Given the description of an element on the screen output the (x, y) to click on. 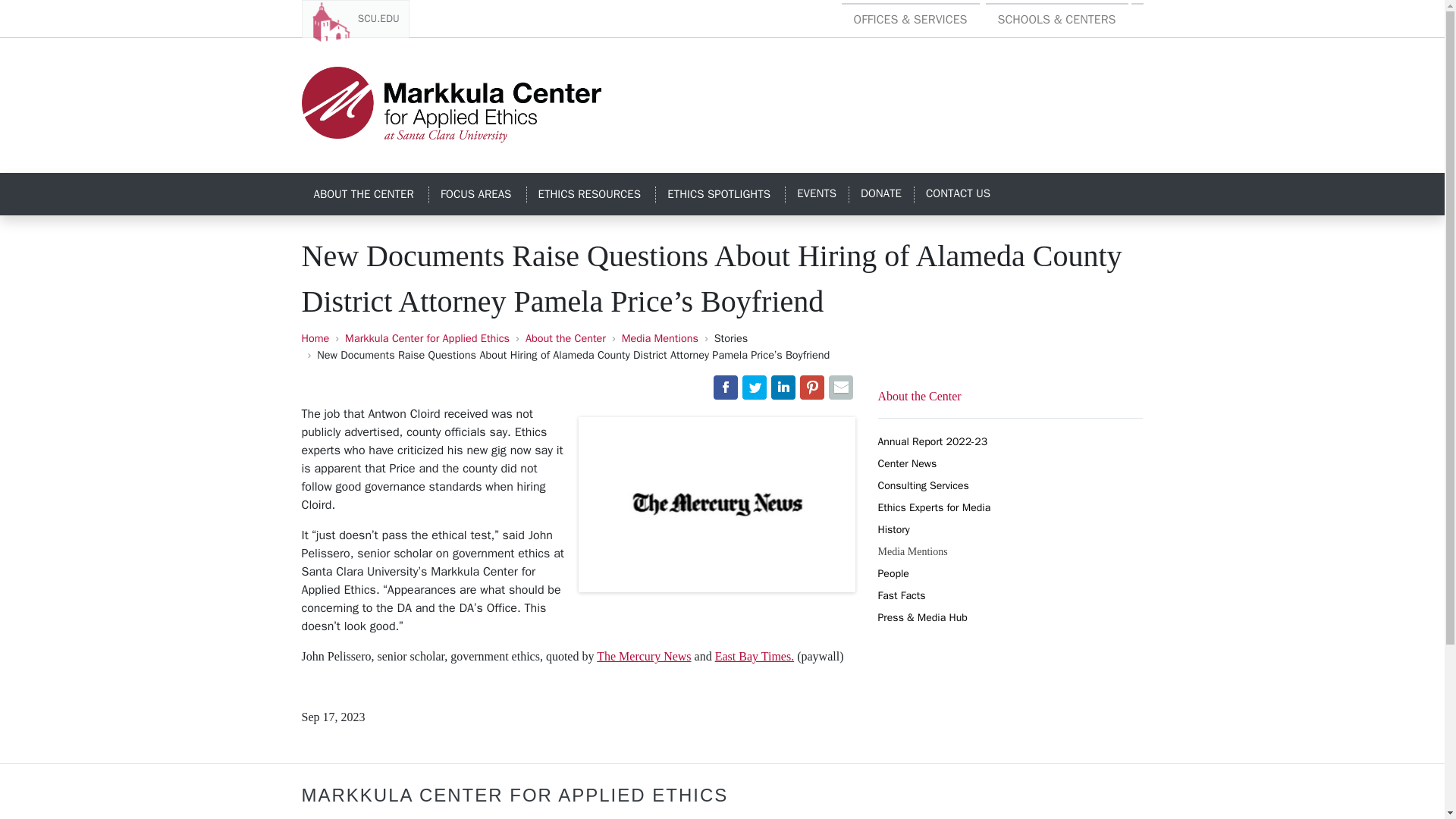
Search (1136, 10)
SCU.EDU (355, 18)
